Given the description of an element on the screen output the (x, y) to click on. 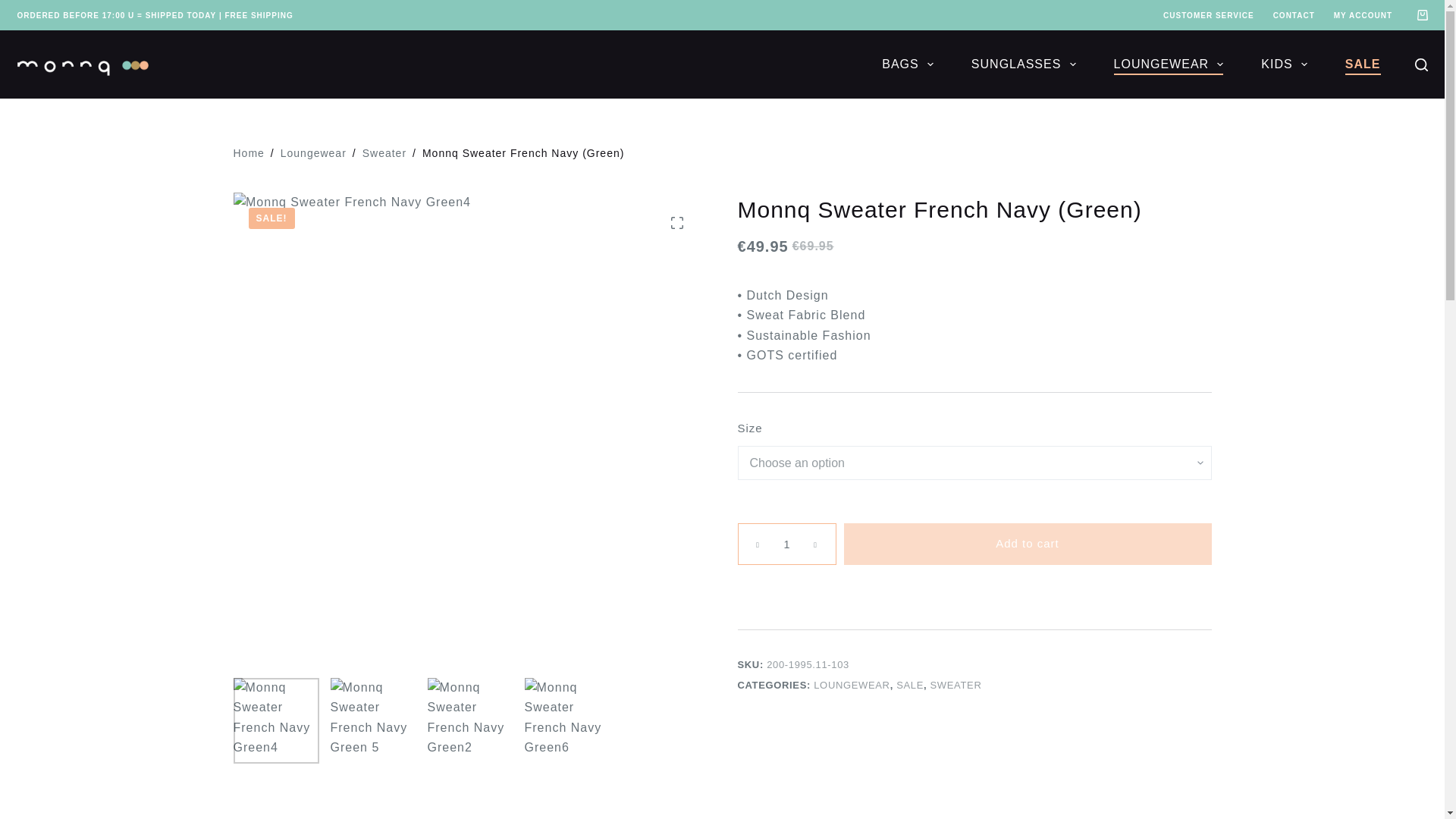
MY ACCOUNT (1361, 15)
1 (785, 544)
Skip to content (15, 7)
CONTACT (1293, 15)
CUSTOMER SERVICE (1208, 15)
